Given the description of an element on the screen output the (x, y) to click on. 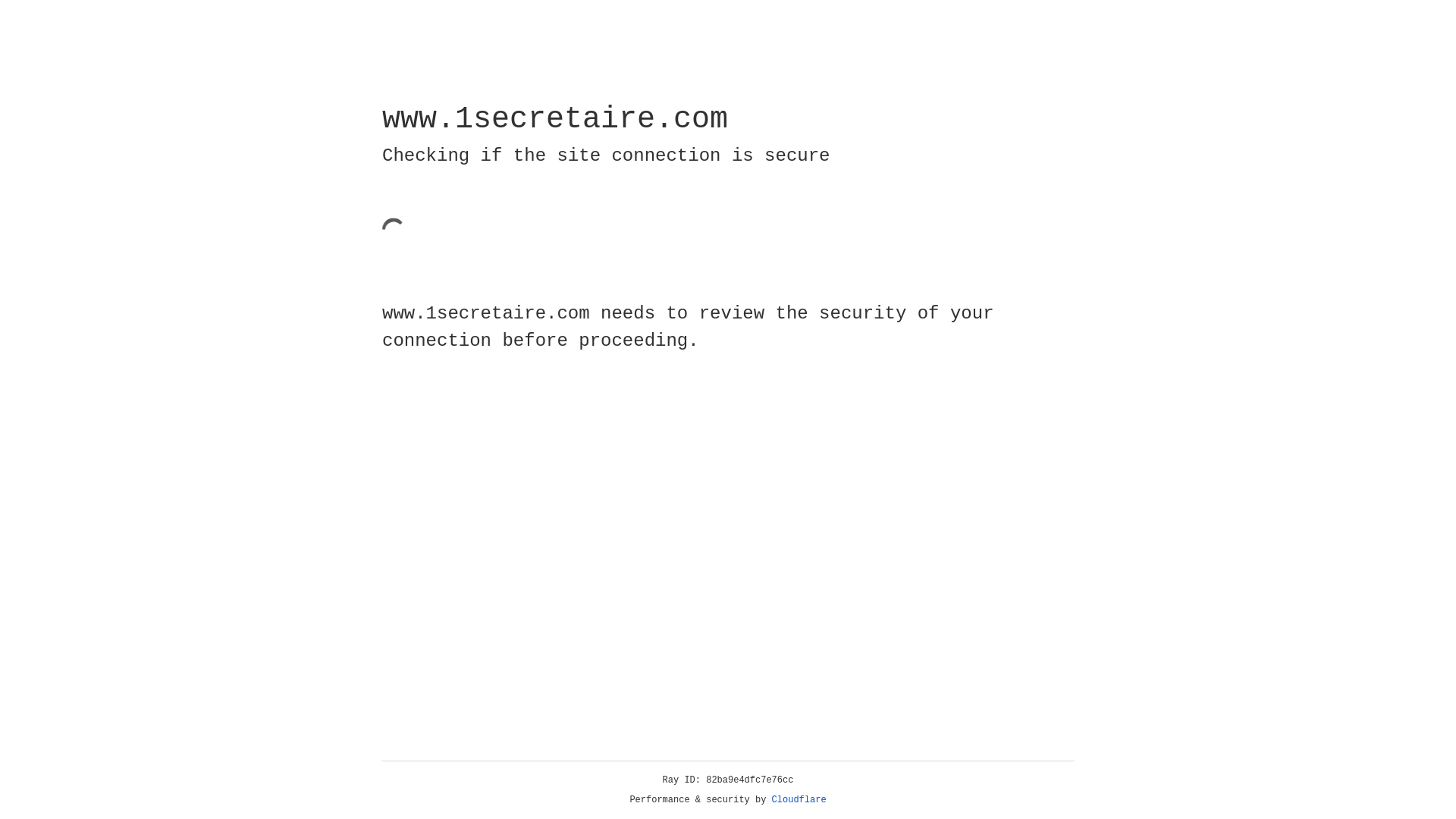
Cloudflare Element type: text (798, 799)
